Given the description of an element on the screen output the (x, y) to click on. 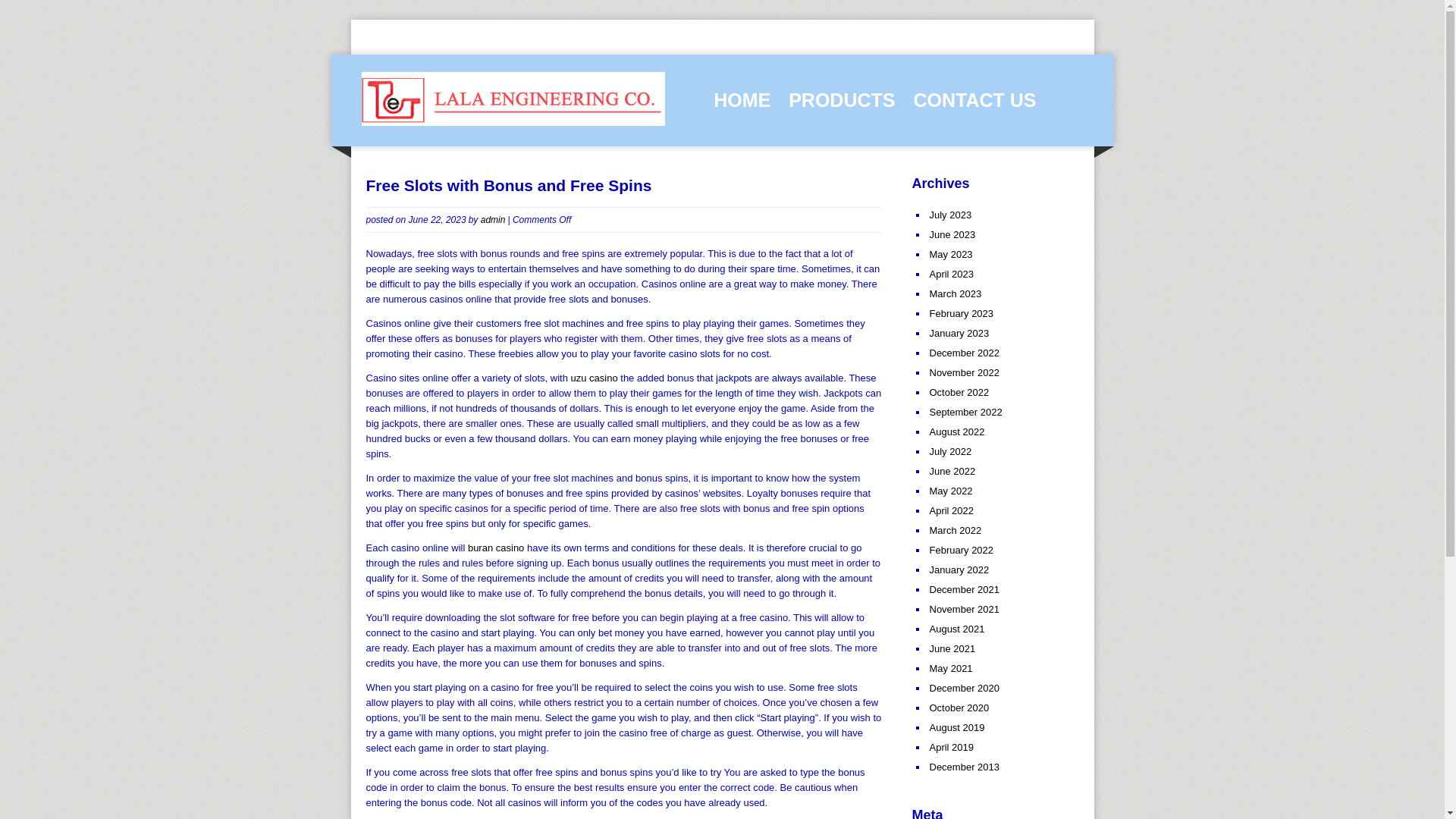
June 2022 (952, 471)
April 2023 (952, 274)
PRODUCTS (841, 99)
August 2022 (957, 431)
July 2023 (951, 214)
April 2022 (952, 510)
admin (492, 218)
October 2022 (960, 392)
buran casino (495, 546)
November 2021 (965, 609)
